Given the description of an element on the screen output the (x, y) to click on. 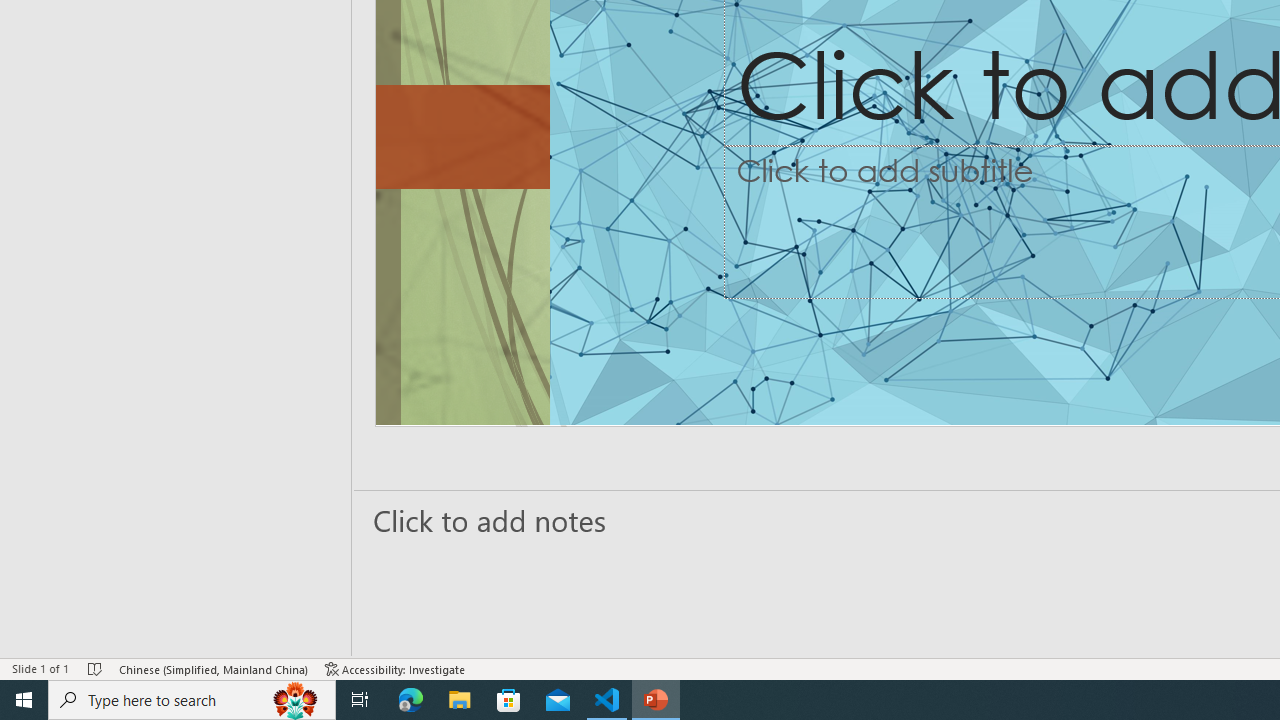
Accessibility Checker Accessibility: Investigate (395, 668)
